Given the description of an element on the screen output the (x, y) to click on. 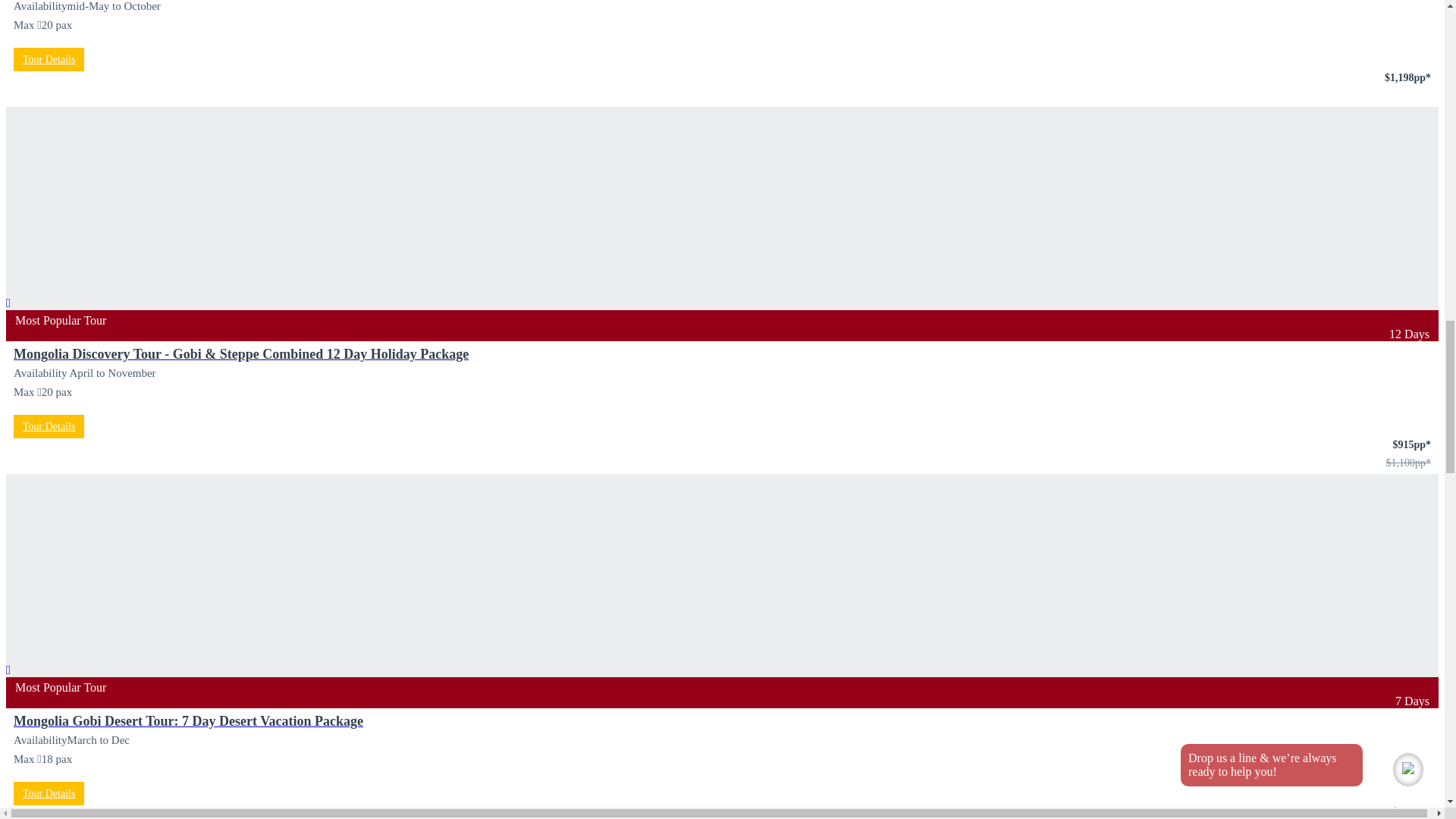
Tour Details (48, 59)
Mongolia Gobi Desert Tour: 7 Day Desert Vacation Package (187, 720)
